Given the description of an element on the screen output the (x, y) to click on. 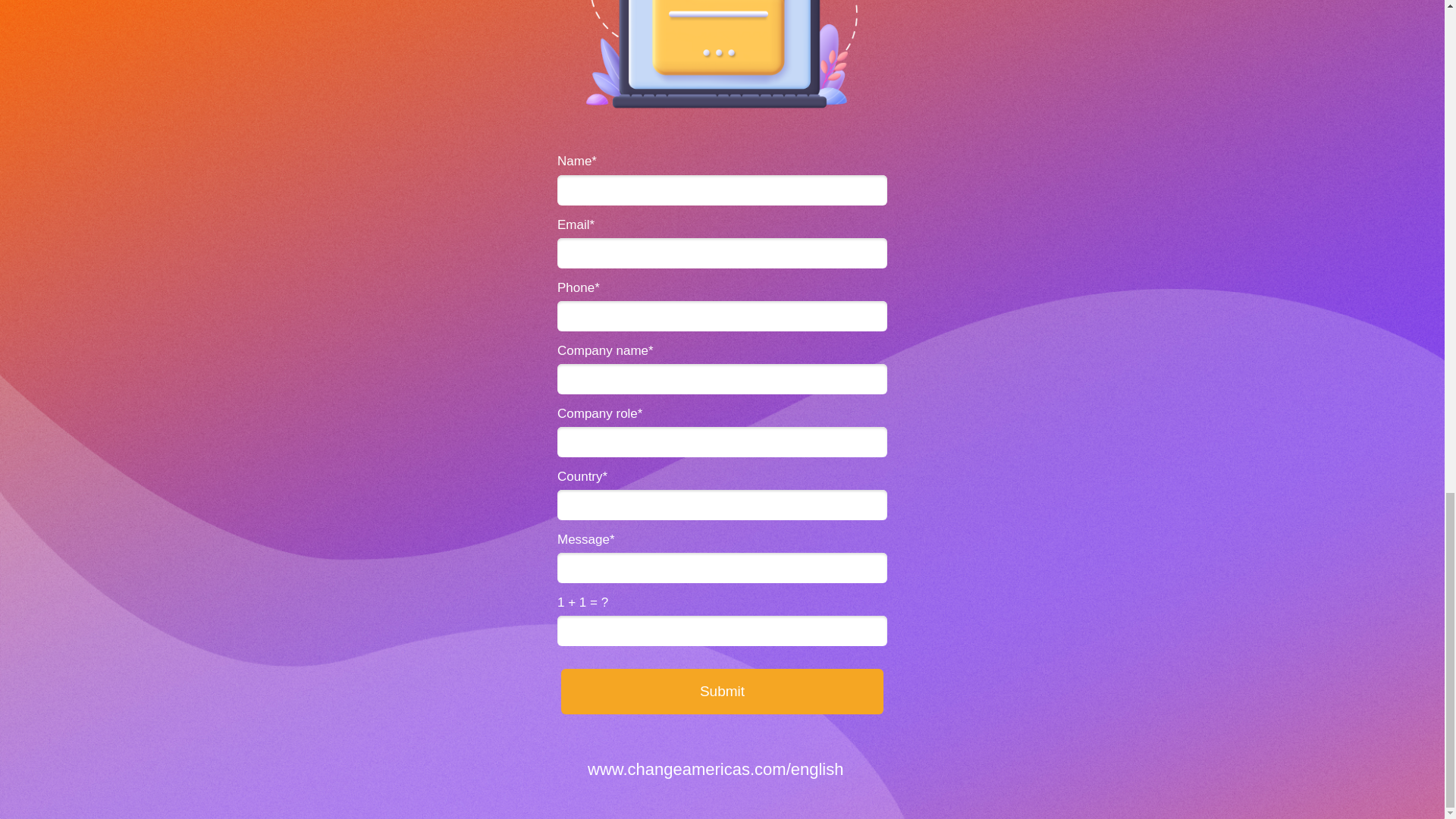
Submit (721, 691)
